Given the description of an element on the screen output the (x, y) to click on. 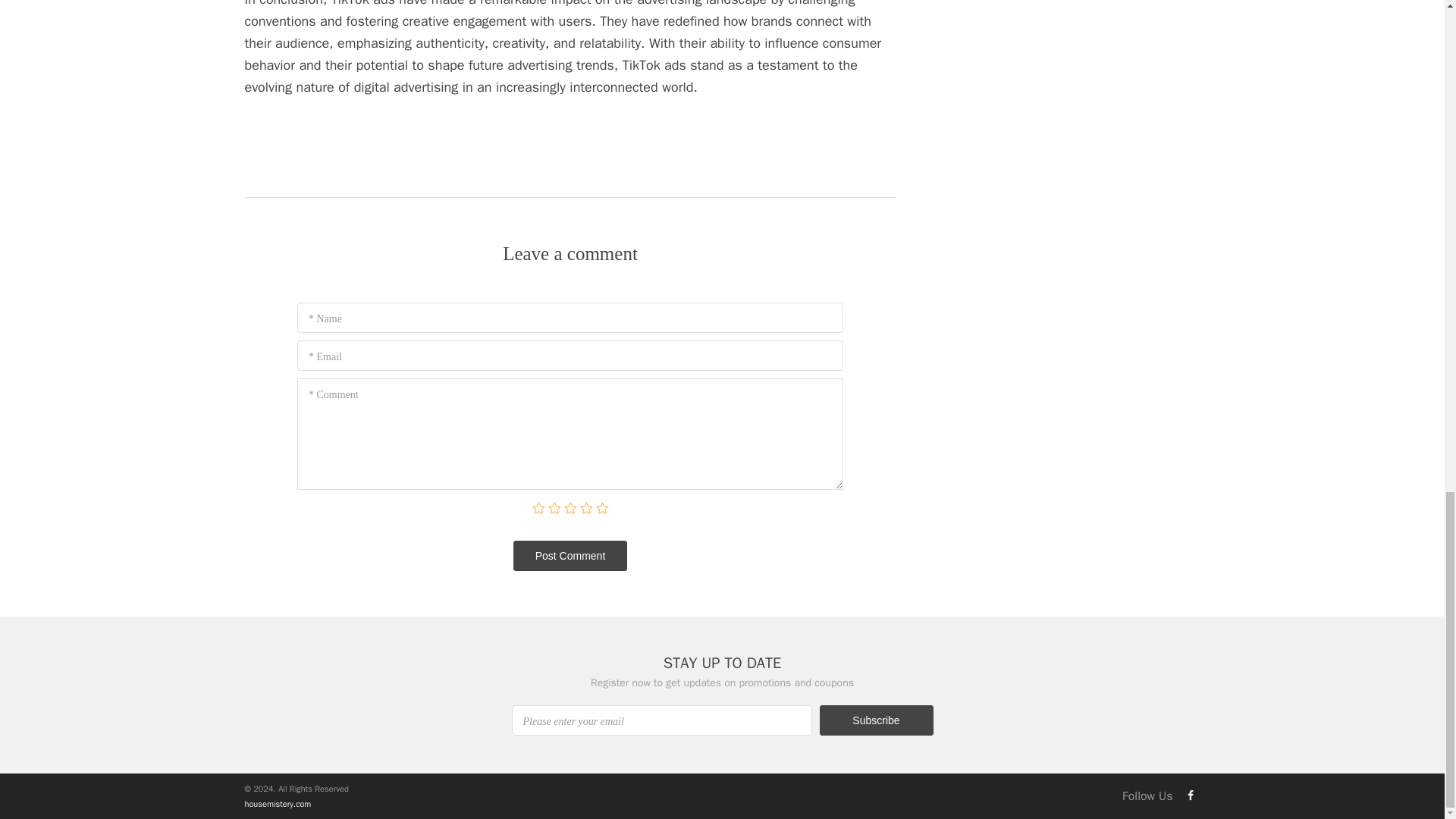
Subscribe (875, 720)
Subscribe (875, 720)
housemistery.com (277, 803)
